Given the description of an element on the screen output the (x, y) to click on. 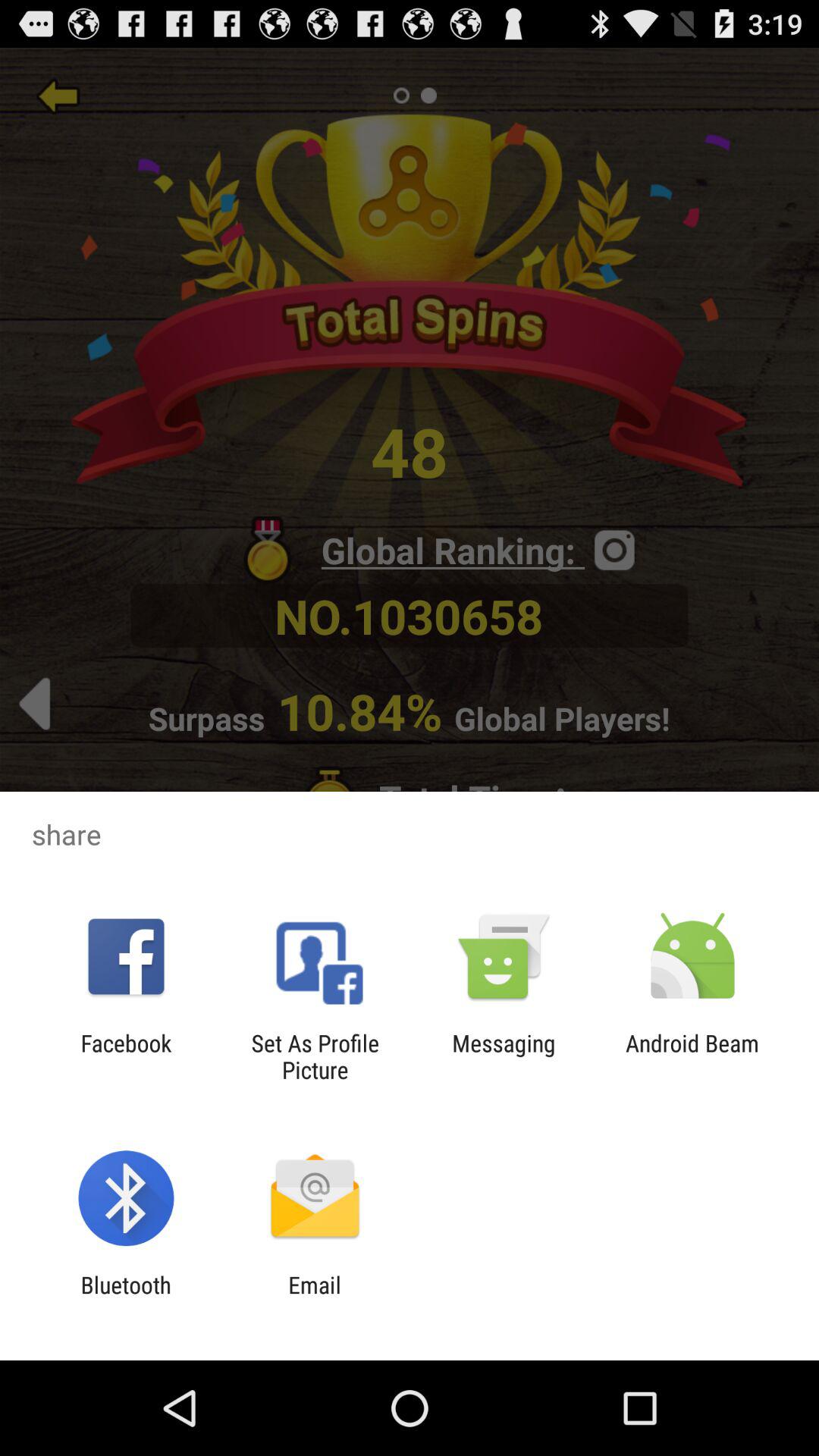
swipe to email item (314, 1298)
